Given the description of an element on the screen output the (x, y) to click on. 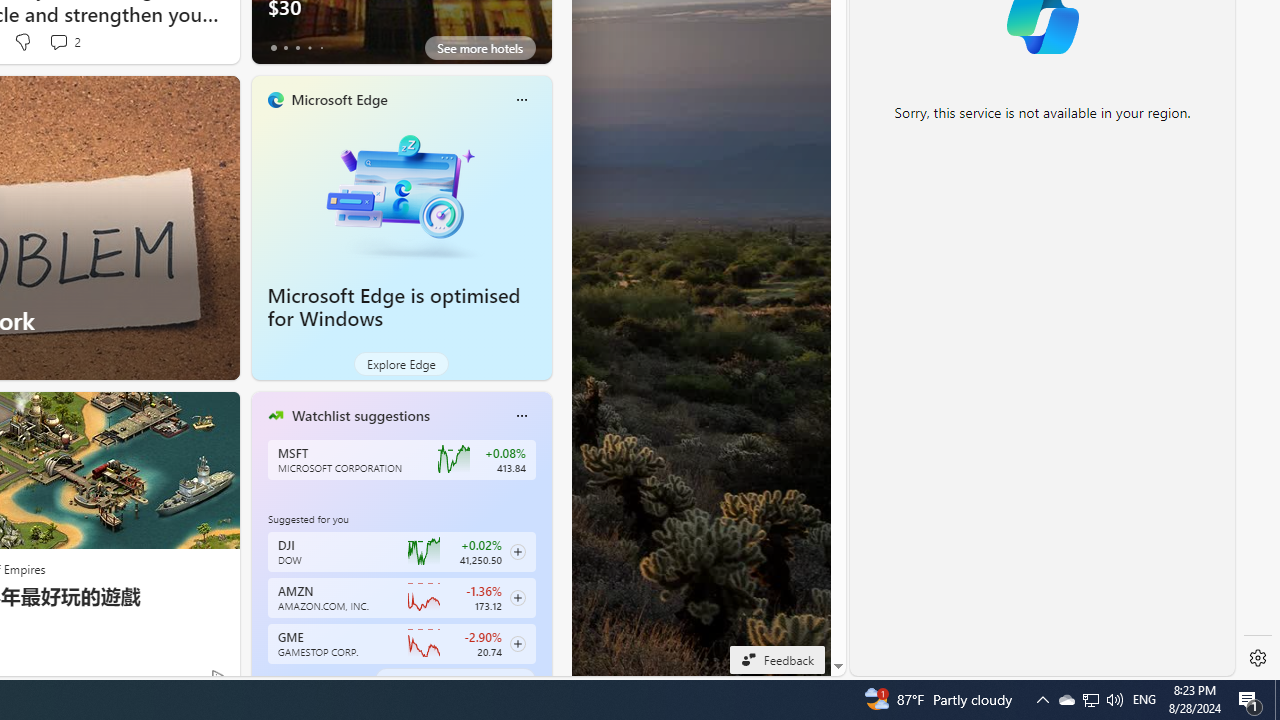
Class: follow-button  m (517, 643)
Class: icon-img (521, 416)
See watchlist suggestions (454, 679)
View comments 2 Comment (64, 42)
Settings (1258, 658)
tab-4 (320, 679)
Microsoft Edge (338, 99)
Explore Edge (401, 363)
tab-2 (297, 679)
Microsoft Edge is optimised for Windows (393, 307)
